Given the description of an element on the screen output the (x, y) to click on. 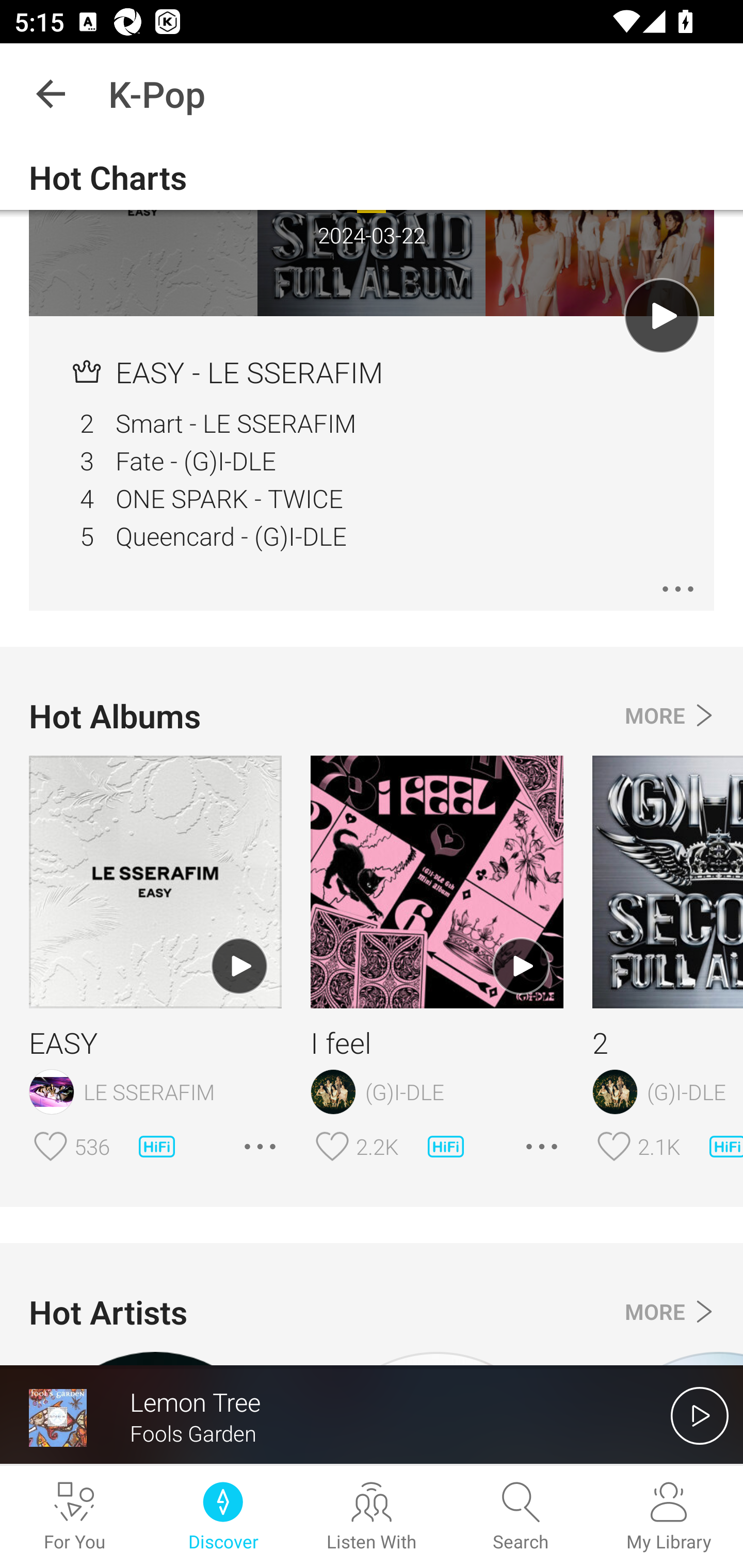
Hot Charts (371, 177)
播放歌單 (661, 315)
more (677, 588)
Hot Albums MORE (371, 715)
播放歌單 (239, 966)
播放歌單 (520, 966)
EASY (154, 1041)
I feel (436, 1041)
2 (667, 1041)
LE SSERAFIM (154, 1091)
(G)I-DLE (436, 1091)
(G)I-DLE (667, 1091)
536 (91, 1146)
2.2K (376, 1146)
2.1K (658, 1146)
Hot Artists MORE (371, 1312)
開始播放 (699, 1415)
For You (74, 1517)
Discover (222, 1517)
Listen With (371, 1517)
Search (519, 1517)
My Library (668, 1517)
